Given the description of an element on the screen output the (x, y) to click on. 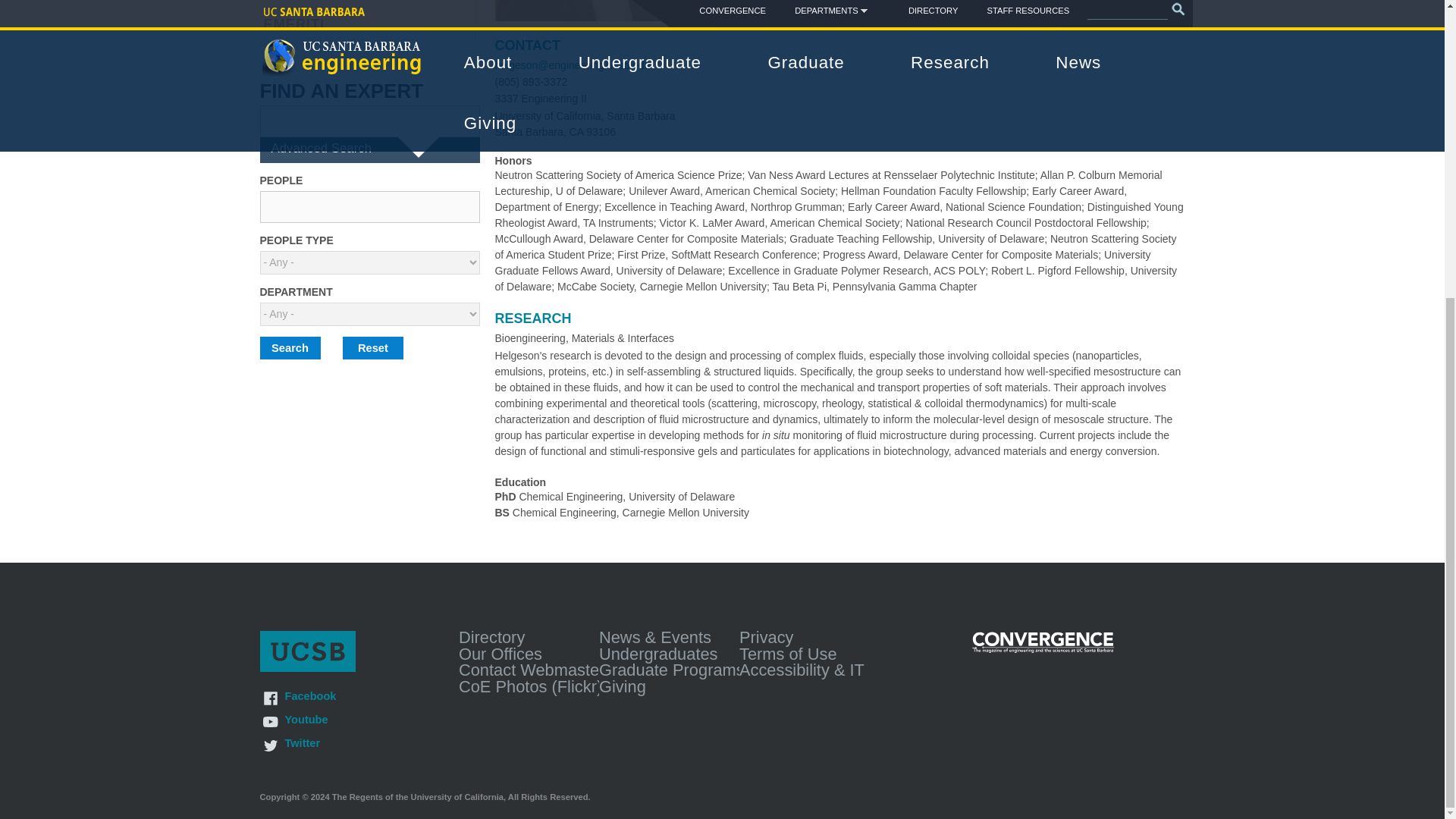
Search (289, 347)
Reset (372, 347)
